Given the description of an element on the screen output the (x, y) to click on. 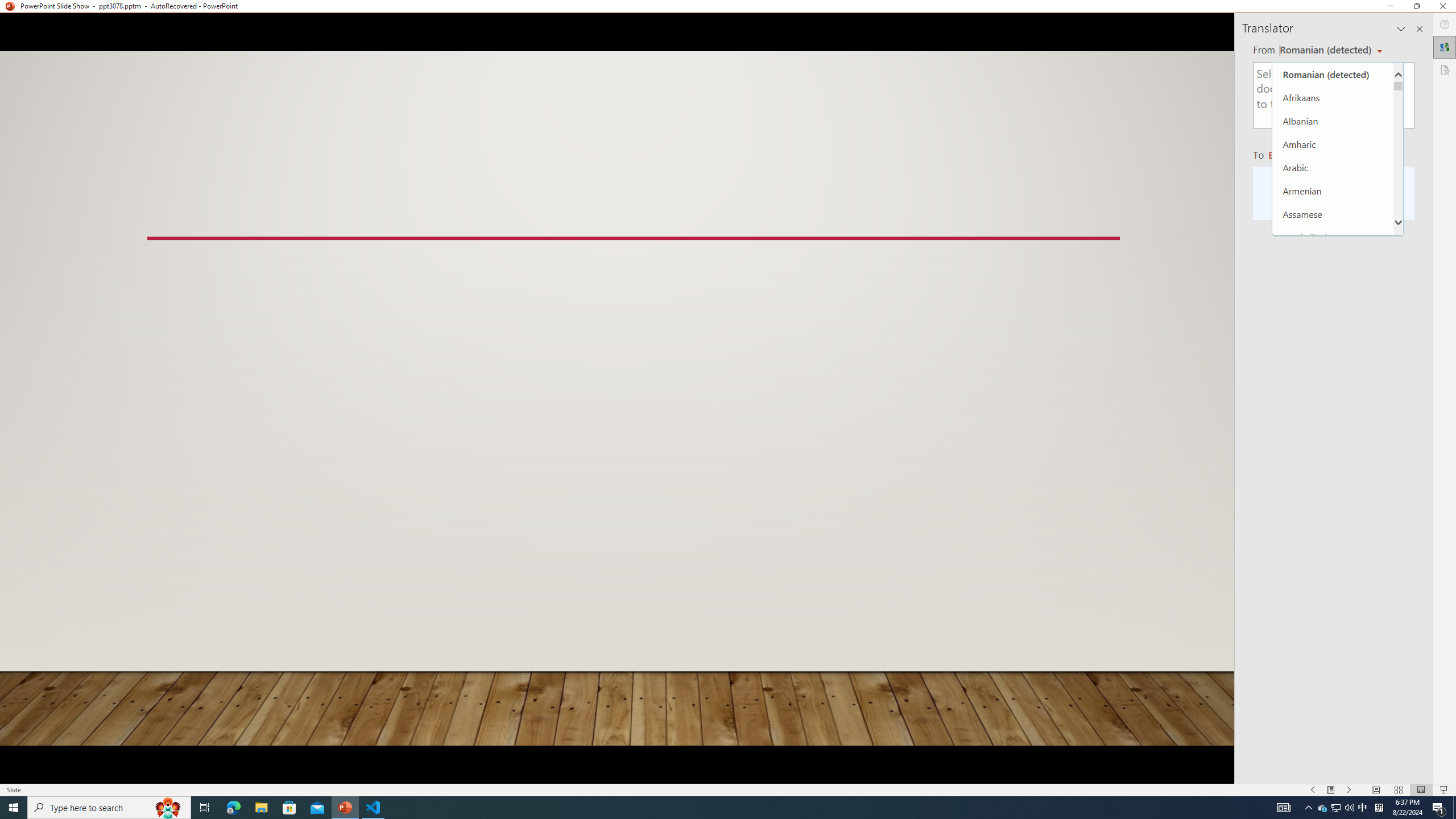
Chinese (Literary) (1332, 493)
Catalan (1332, 446)
Cantonese (Traditional) (1332, 422)
Czech (1332, 586)
Bosnian (1332, 377)
Dutch (1332, 702)
Faroese (1332, 772)
Menu On (1331, 790)
Azerbaijani (1332, 237)
Chinese Traditional (1332, 540)
Chinese Simplified (1332, 516)
